Given the description of an element on the screen output the (x, y) to click on. 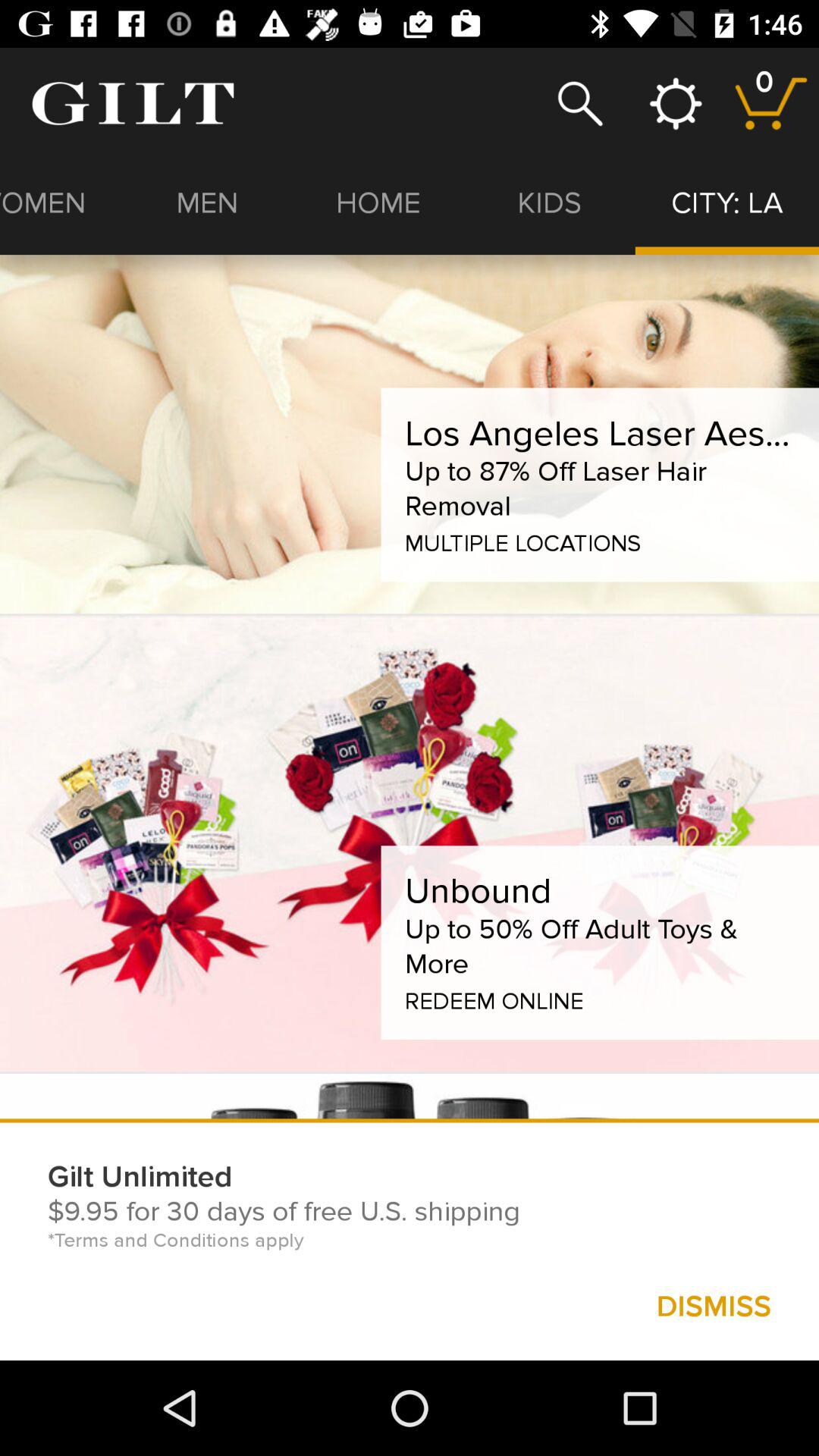
jump to los angeles laser icon (599, 433)
